Given the description of an element on the screen output the (x, y) to click on. 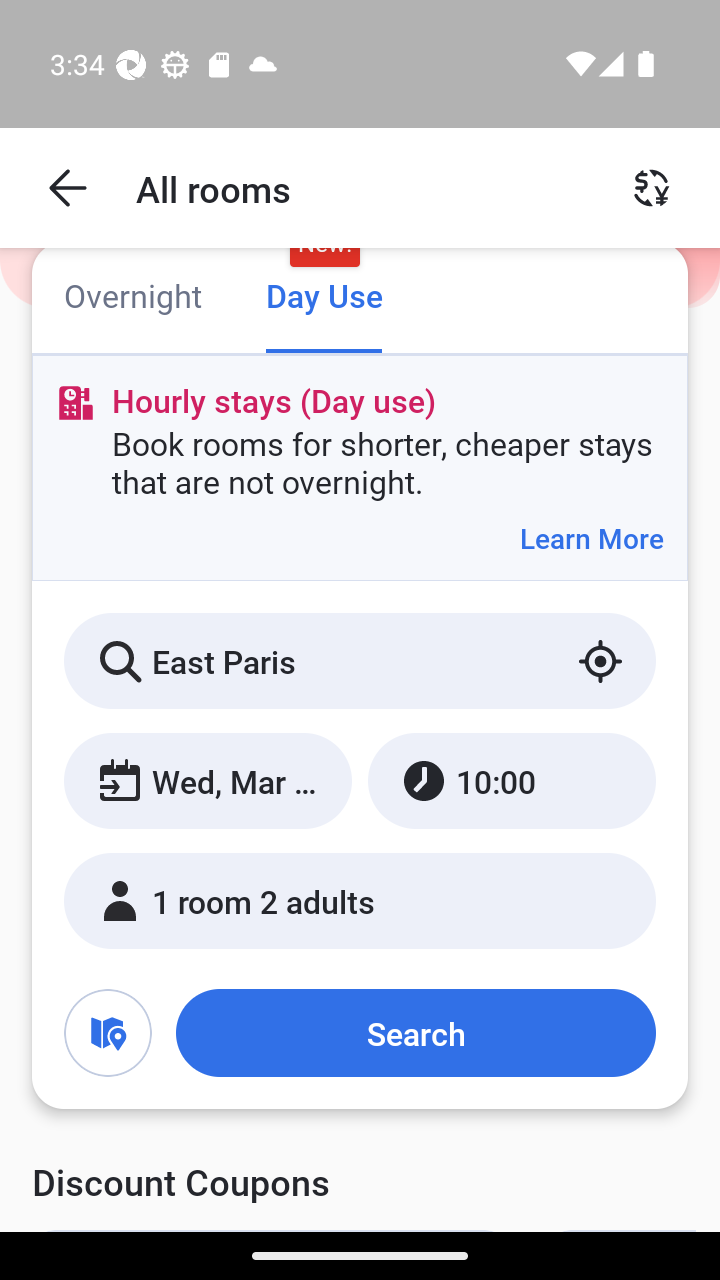
Overnight (132, 298)
Learn More (591, 538)
East Paris (359, 661)
Wed, Mar 13 (208, 781)
10:00 (511, 781)
1 room 2 adults (359, 900)
Search (415, 1033)
